Given the description of an element on the screen output the (x, y) to click on. 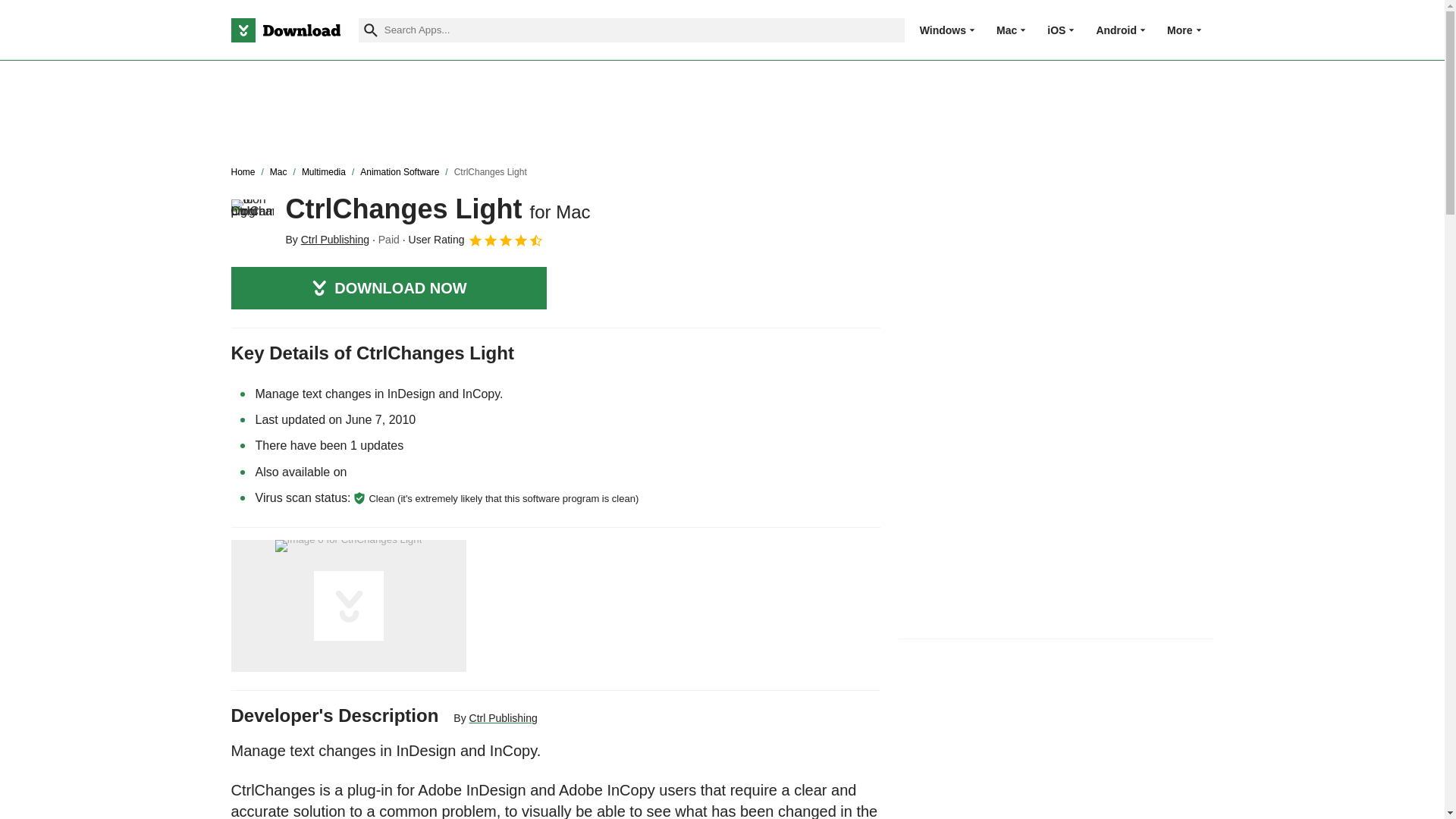
Windows (943, 29)
CtrlChanges Light for Mac (251, 220)
Mac (1005, 29)
